Given the description of an element on the screen output the (x, y) to click on. 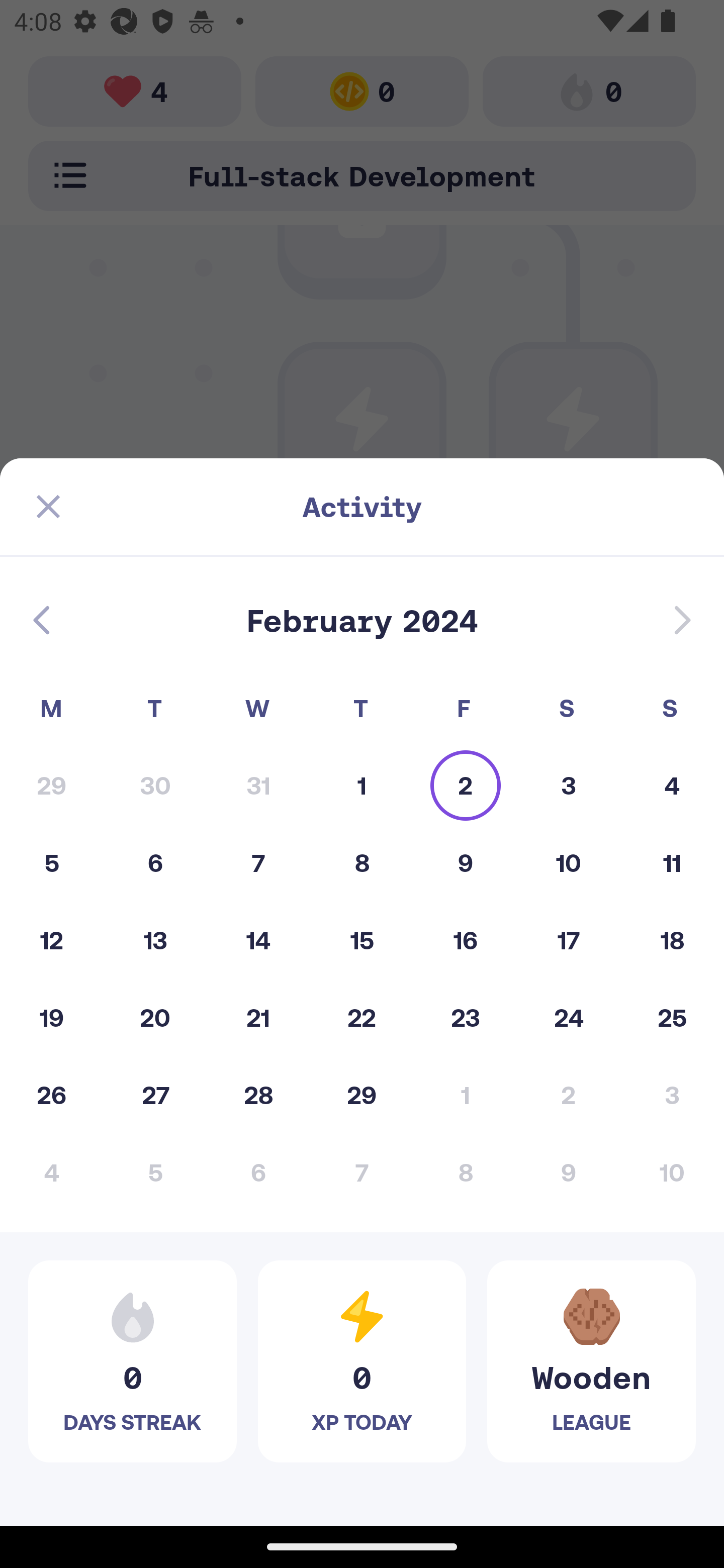
Close (47, 506)
